Given the description of an element on the screen output the (x, y) to click on. 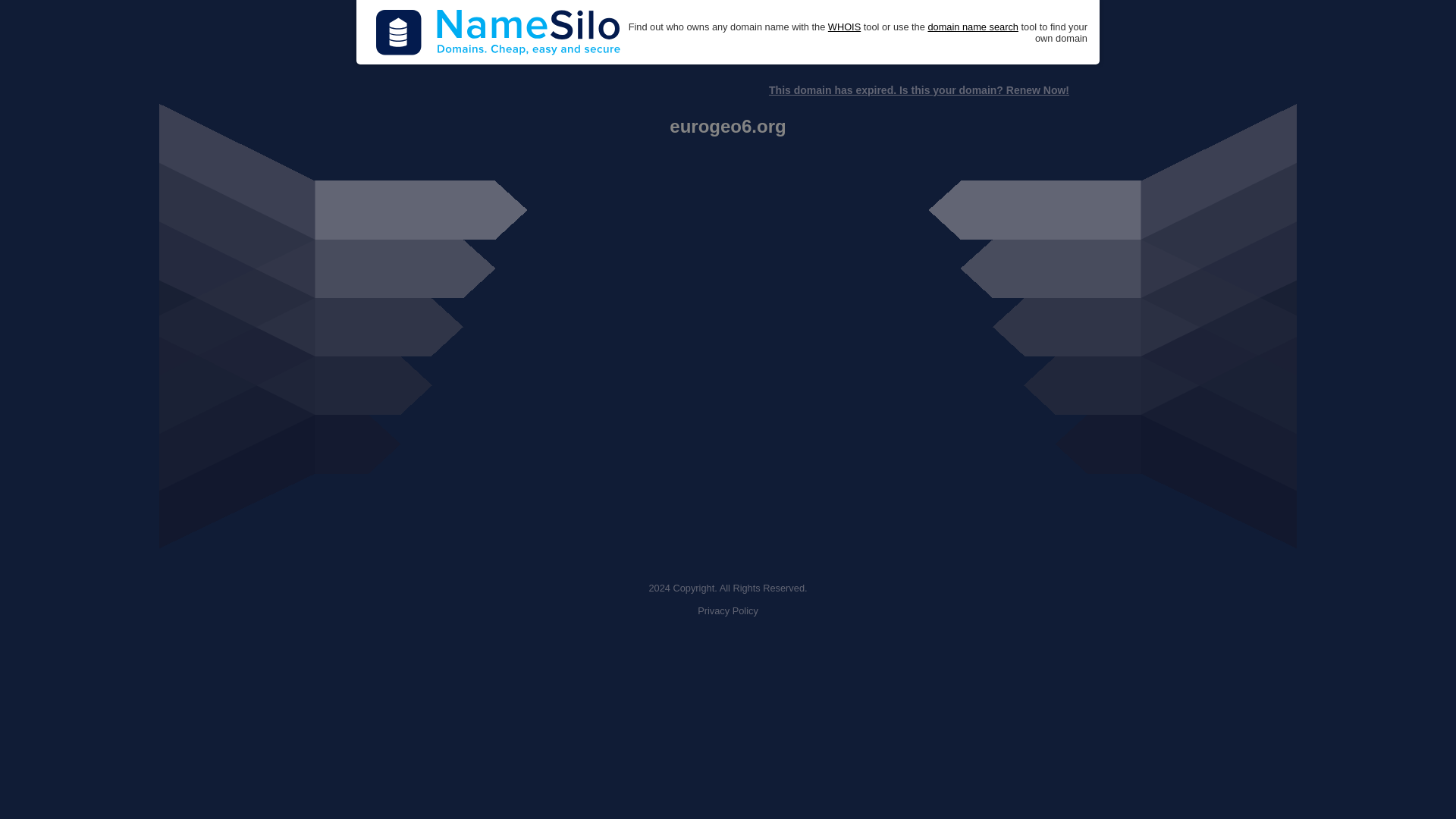
domain name search (972, 26)
WHOIS (844, 26)
Privacy Policy (727, 610)
This domain has expired. Is this your domain? Renew Now! (918, 90)
